Given the description of an element on the screen output the (x, y) to click on. 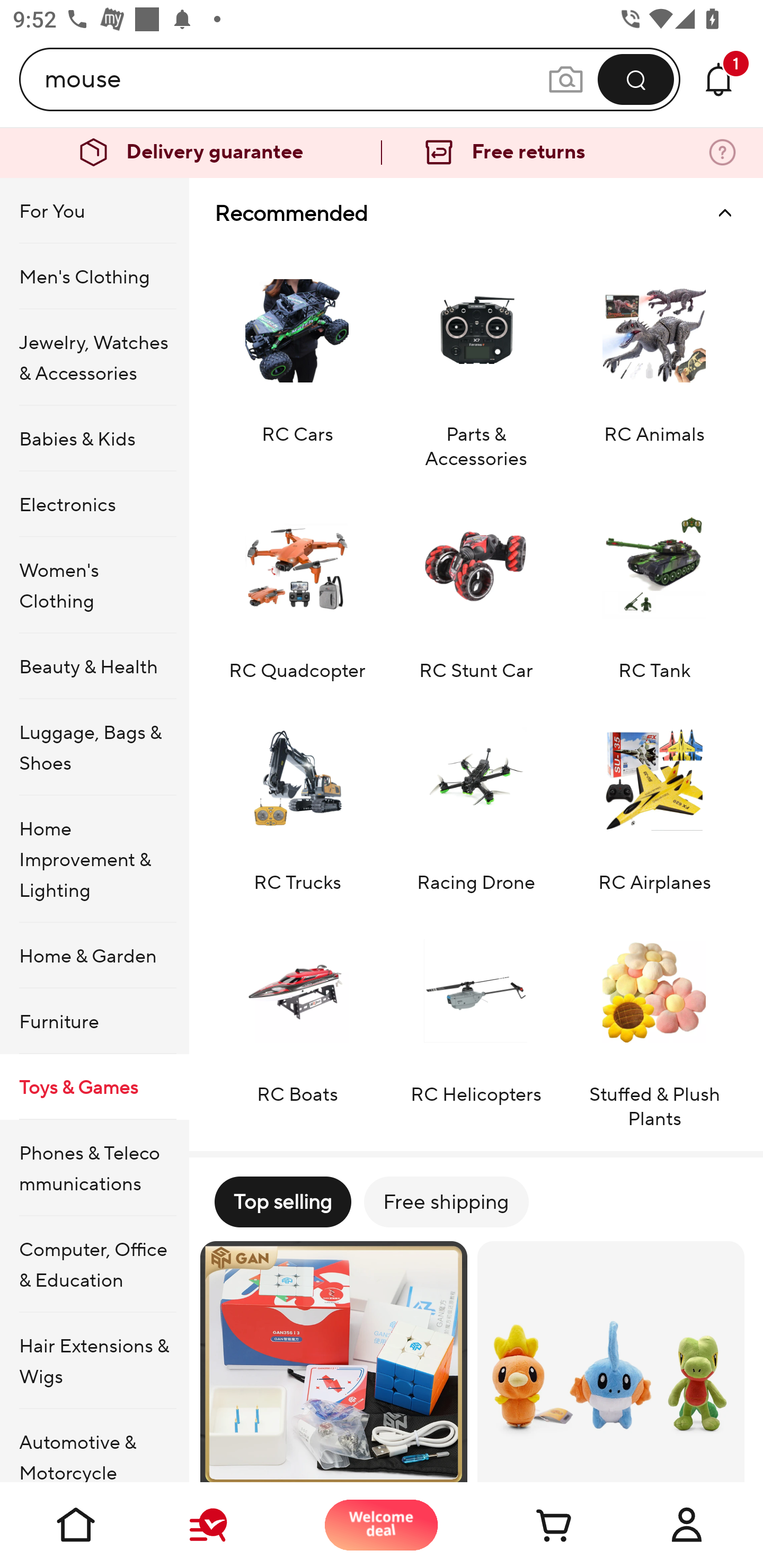
mouse Search query (295, 79)
Messages 1 (718, 79)
Delivery guarantee Free returns (381, 152)
For You (94, 210)
Recommended  (476, 212)
Men's Clothing (94, 275)
RC Cars (296, 359)
Parts & Accessories (475, 359)
RC Animals (654, 359)
Jewelry, Watches & Accessories (94, 357)
Babies & Kids (94, 438)
Electronics (94, 504)
RC Quadcopter (296, 583)
RC Stunt Car (475, 583)
RC Tank (654, 583)
Women's Clothing (94, 585)
Beauty & Health (94, 666)
RC Trucks (296, 795)
Racing Drone (475, 795)
RC Airplanes (654, 795)
Luggage, Bags & Shoes (94, 746)
Home Improvement & Lighting (94, 858)
RC Boats (296, 1019)
RC Helicopters (475, 1019)
Stuffed & Plush Plants (654, 1019)
Home & Garden (94, 955)
Furniture (94, 1020)
Toys & Games (94, 1086)
Phones & Telecommunications (94, 1167)
Top selling (282, 1201)
Free shipping (445, 1201)
Computer, Office & Education (94, 1264)
Hair Extensions & Wigs (94, 1360)
Automotive & Motorcycle (94, 1445)
Home (76, 1524)
Cart (533, 1524)
Account (686, 1524)
